Given the description of an element on the screen output the (x, y) to click on. 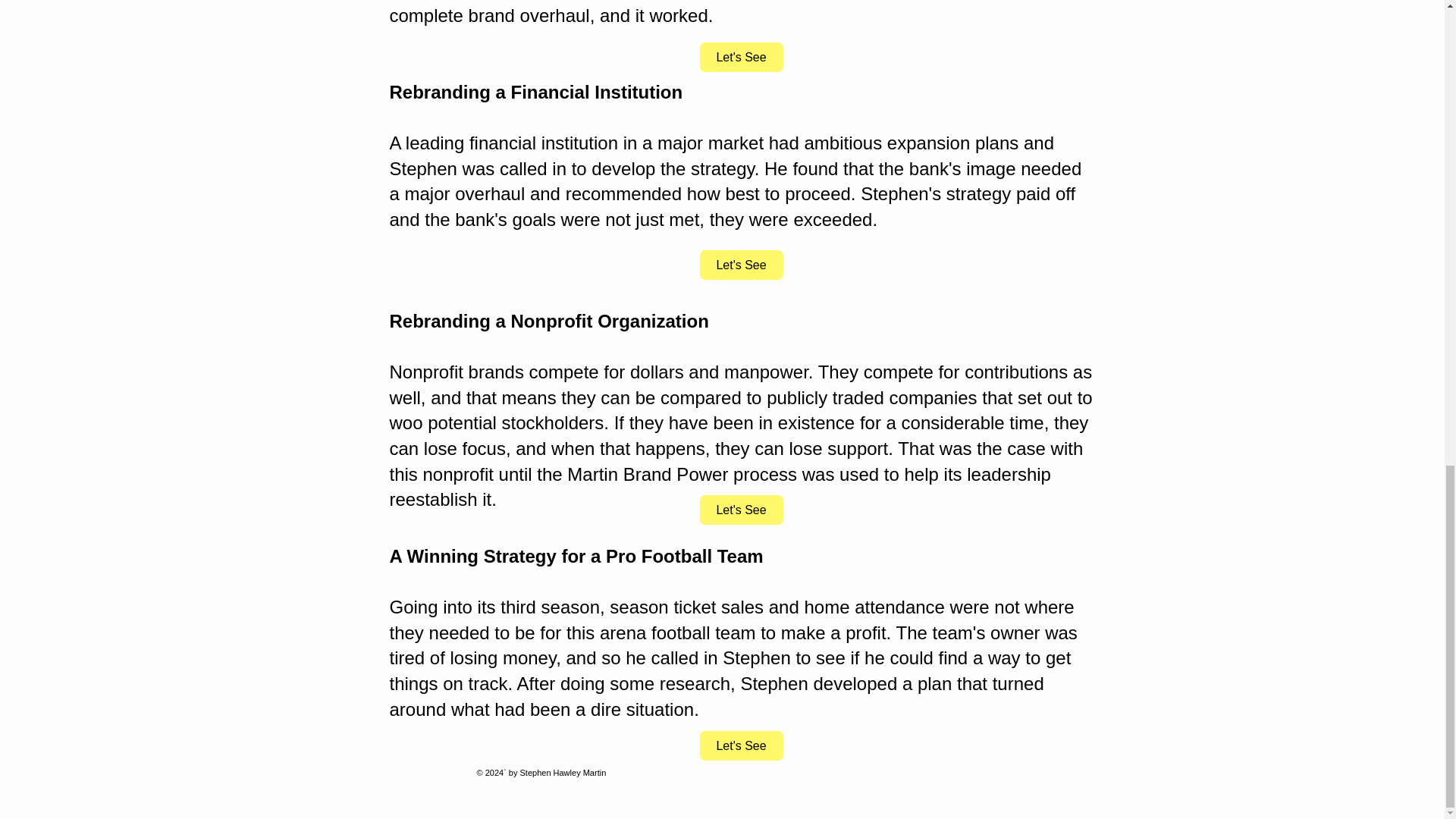
Let's See (740, 265)
Let's See (740, 57)
Let's See (740, 745)
Let's See (740, 509)
